Given the description of an element on the screen output the (x, y) to click on. 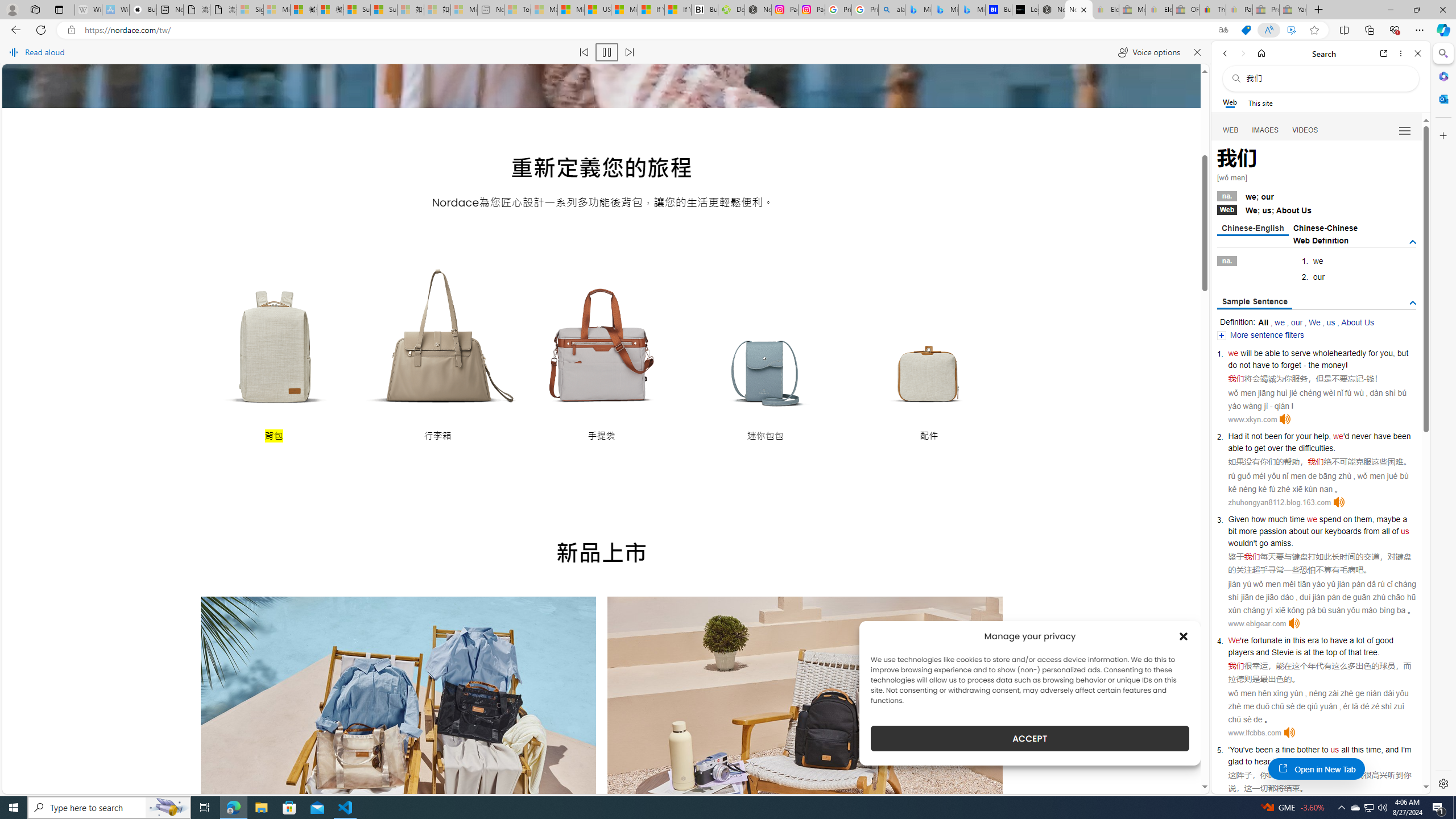
! (1346, 364)
from (1371, 530)
Class: cmplz-close (1183, 636)
you (1386, 352)
. (1330, 760)
'm (1407, 749)
